Given the description of an element on the screen output the (x, y) to click on. 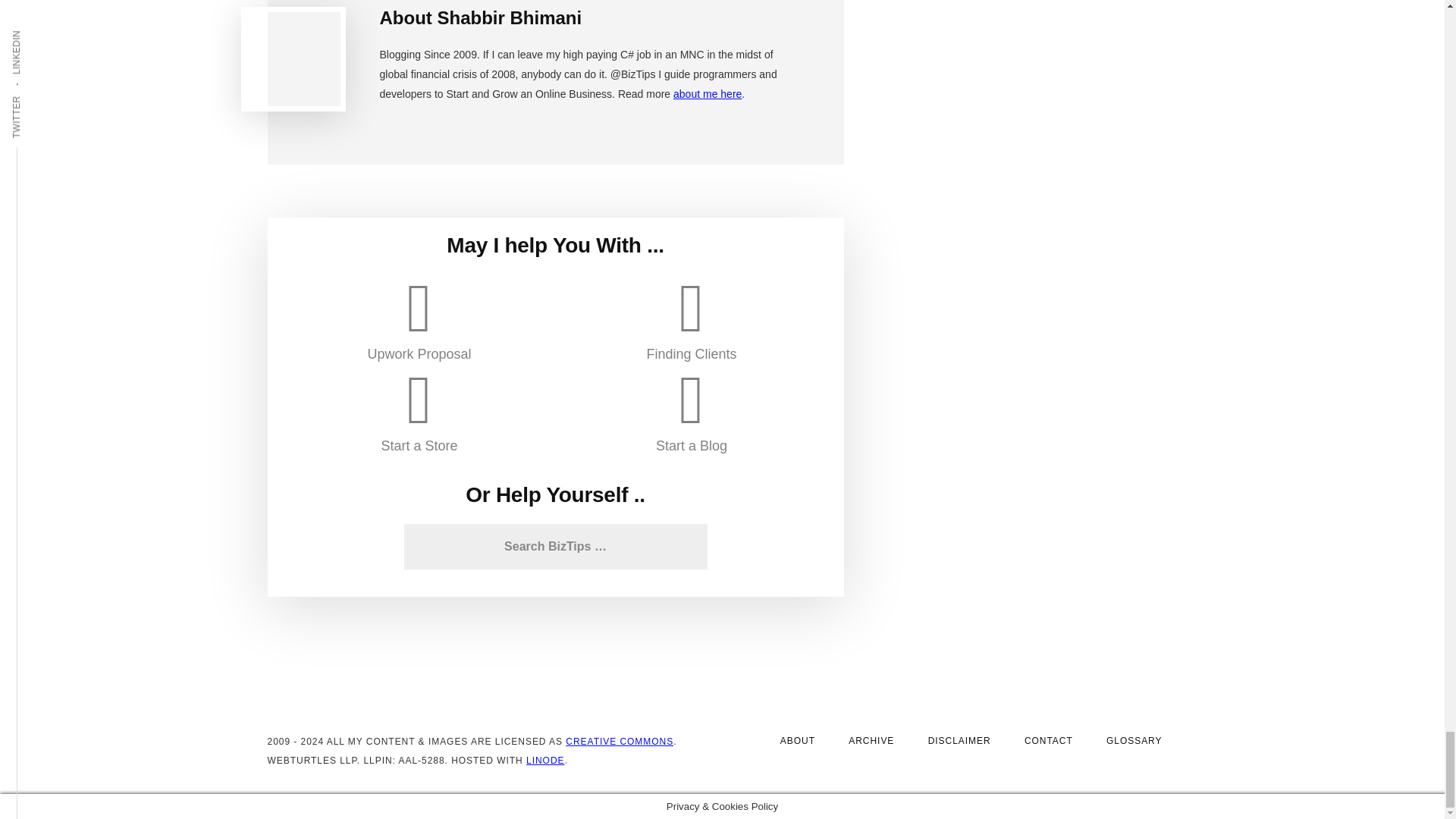
GLOSSARY (1133, 741)
DISCLAIMER (959, 741)
Upwork Proposal (418, 317)
CREATIVE COMMONS (619, 741)
ARCHIVE (870, 741)
Start a Blog (691, 409)
Start a Store (418, 409)
Finding Clients (691, 317)
ABOUT (797, 741)
about me here (706, 93)
CONTACT (1048, 741)
